Given the description of an element on the screen output the (x, y) to click on. 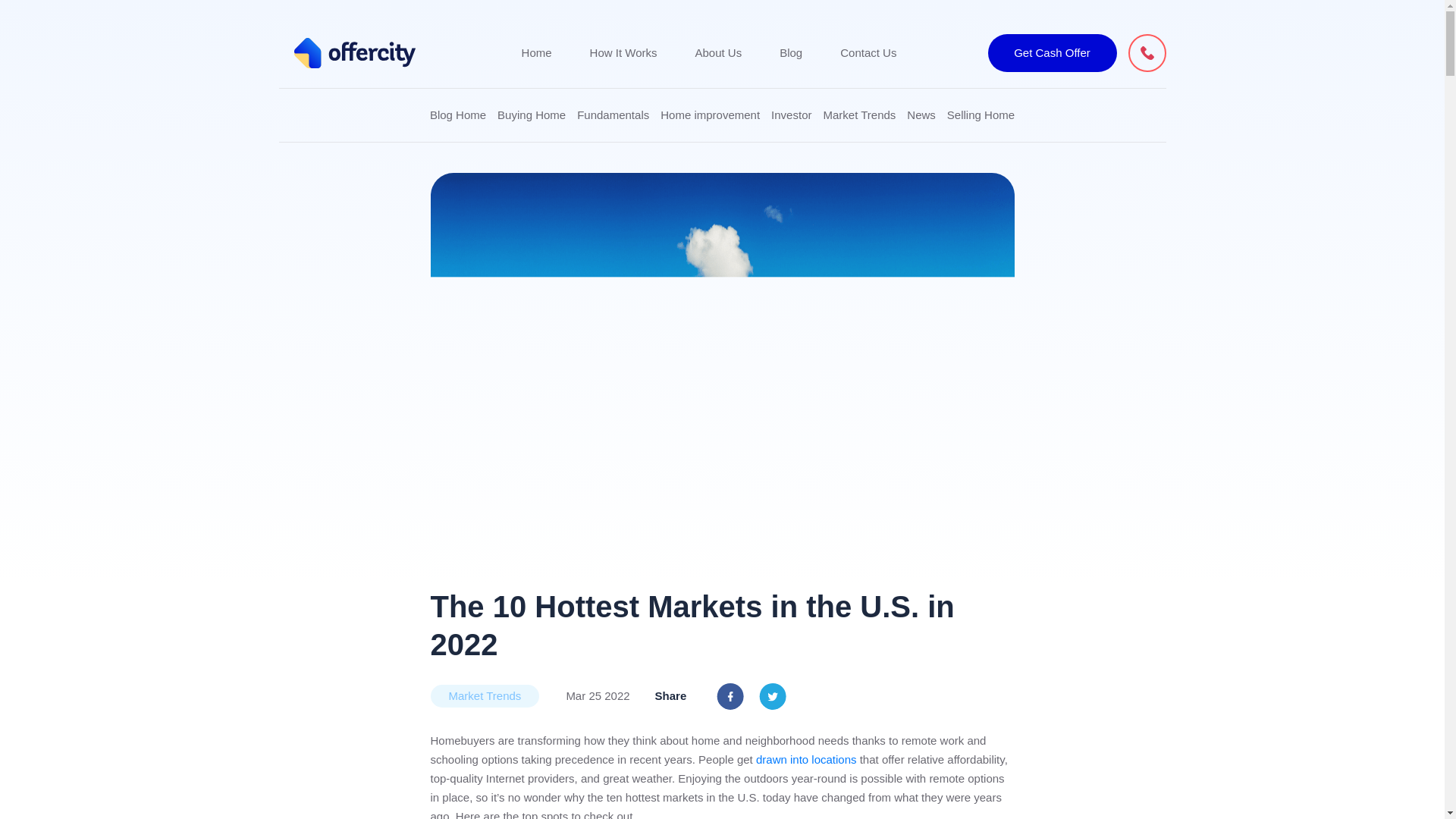
About Us (717, 52)
drawn into locations (806, 759)
Home (536, 52)
Get Cash Offer (1051, 53)
Buying Home (531, 114)
Home improvement (710, 114)
Selling Home (980, 114)
Fundamentals (612, 114)
Blog Home (457, 114)
How It Works (623, 52)
Contact Us (868, 52)
Blog (790, 52)
Market Trends (858, 114)
